Given the description of an element on the screen output the (x, y) to click on. 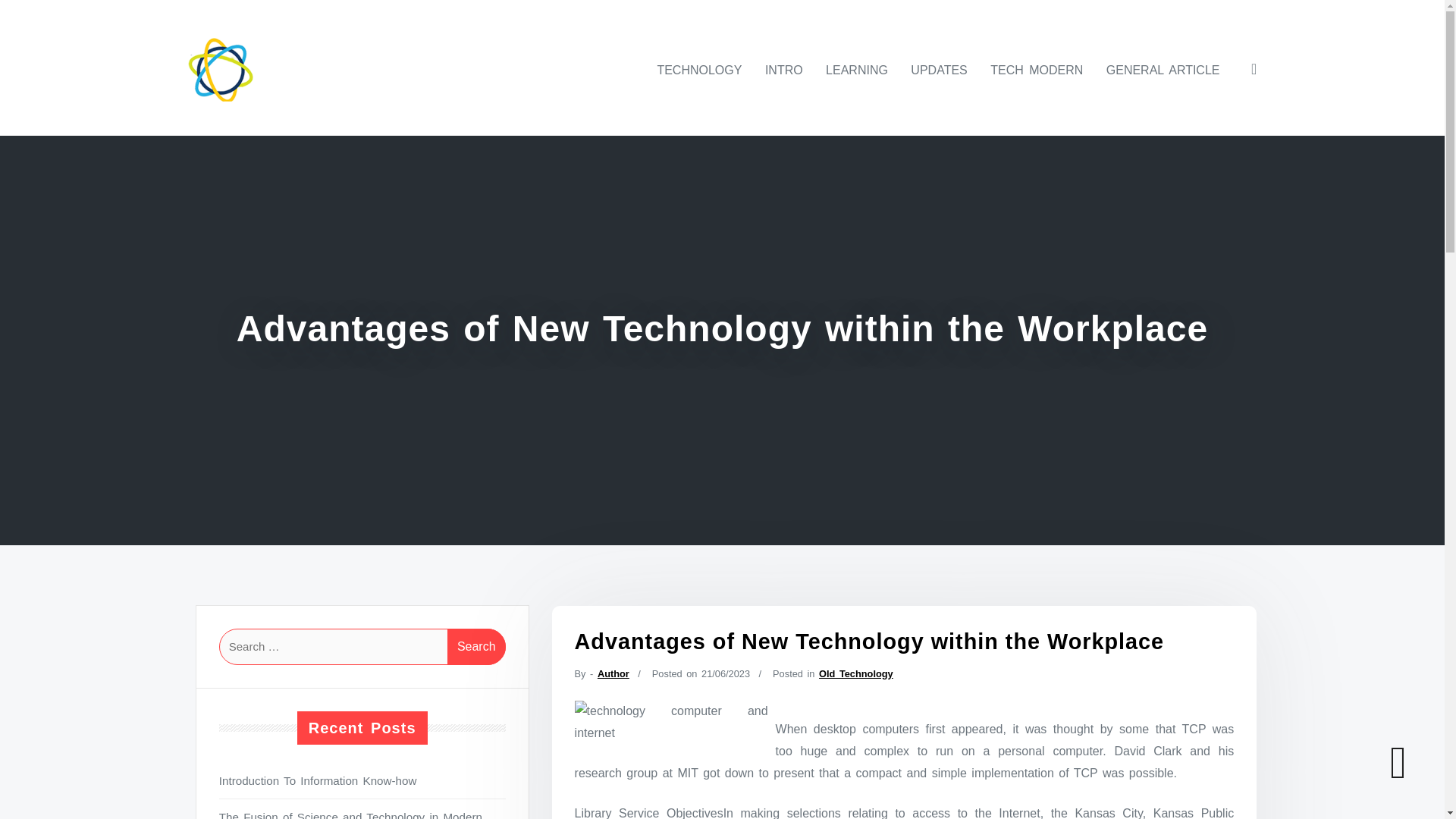
The Fusion of Science and Technology in Modern Pharmacy (362, 812)
Old Technology (855, 673)
TECHNOLOGY (699, 69)
Author (612, 673)
Search (475, 646)
INTRO (783, 69)
Search (475, 646)
Search (475, 646)
TECH MODERN (1036, 69)
LEARNING (856, 69)
UPDATES (938, 69)
Introduction To Information Know-how (362, 780)
GENERAL ARTICLE (1162, 69)
